Given the description of an element on the screen output the (x, y) to click on. 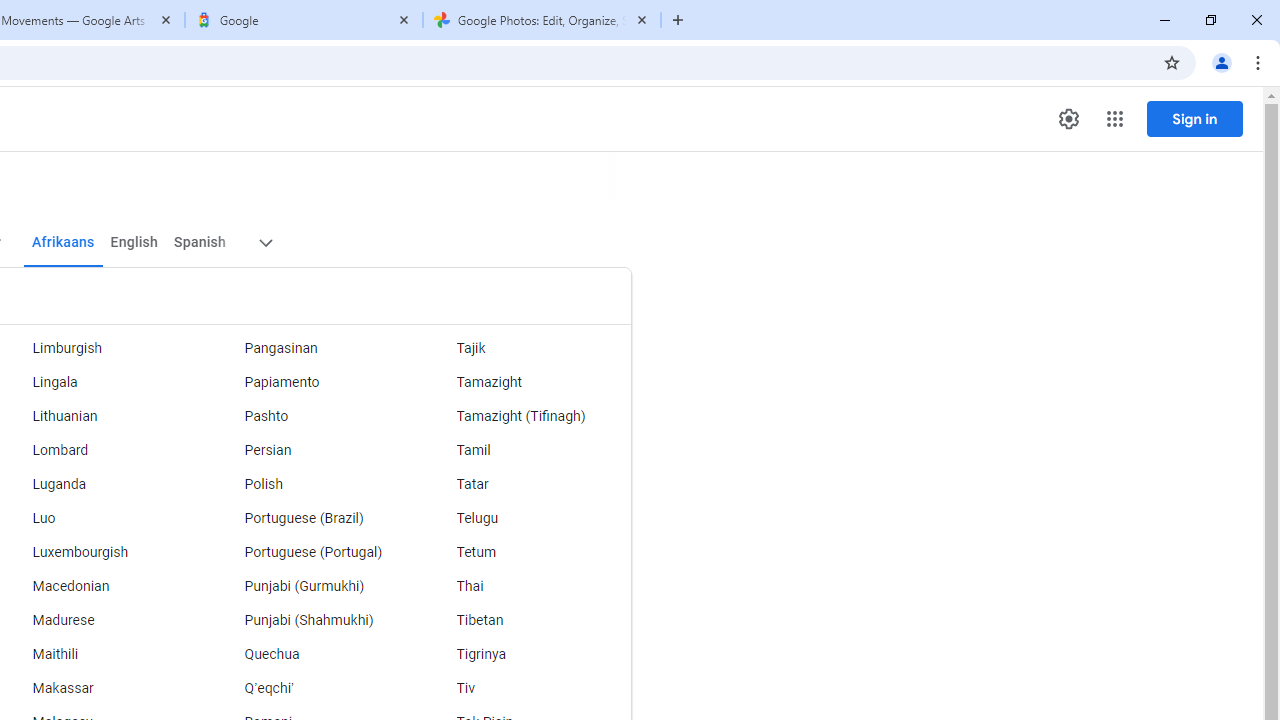
Punjabi (Shahmukhi) (312, 620)
More target languages (264, 242)
Quechua (312, 655)
Portuguese (Brazil) (312, 518)
Persian (312, 450)
Tatar (525, 484)
Tibetan (525, 620)
Google (304, 20)
Pangasinan (312, 348)
Telugu (525, 518)
Thai (525, 586)
Tajik (525, 348)
